Given the description of an element on the screen output the (x, y) to click on. 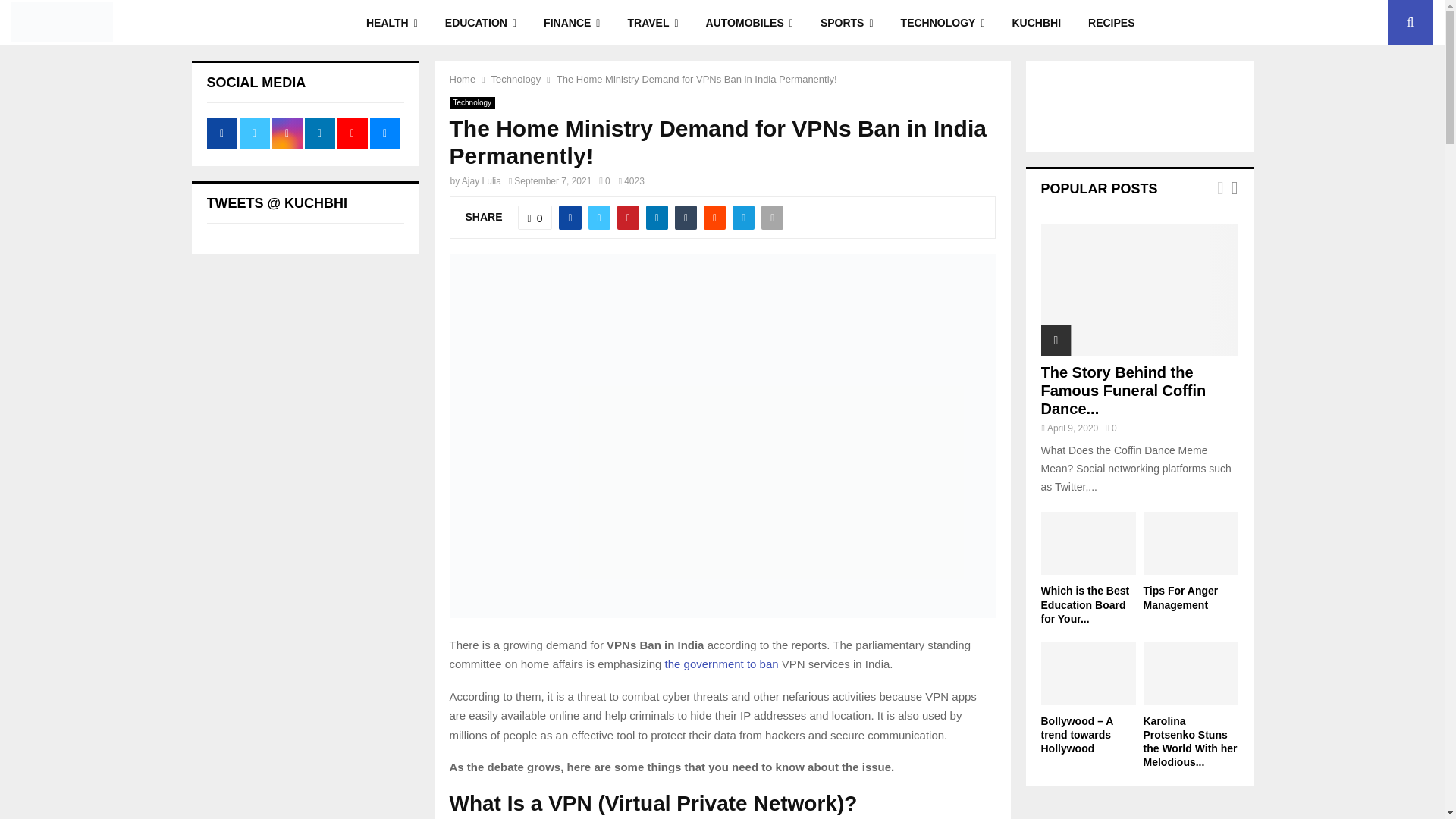
HEALTH (391, 22)
EDUCATION (479, 22)
FINANCE (570, 22)
